Given the description of an element on the screen output the (x, y) to click on. 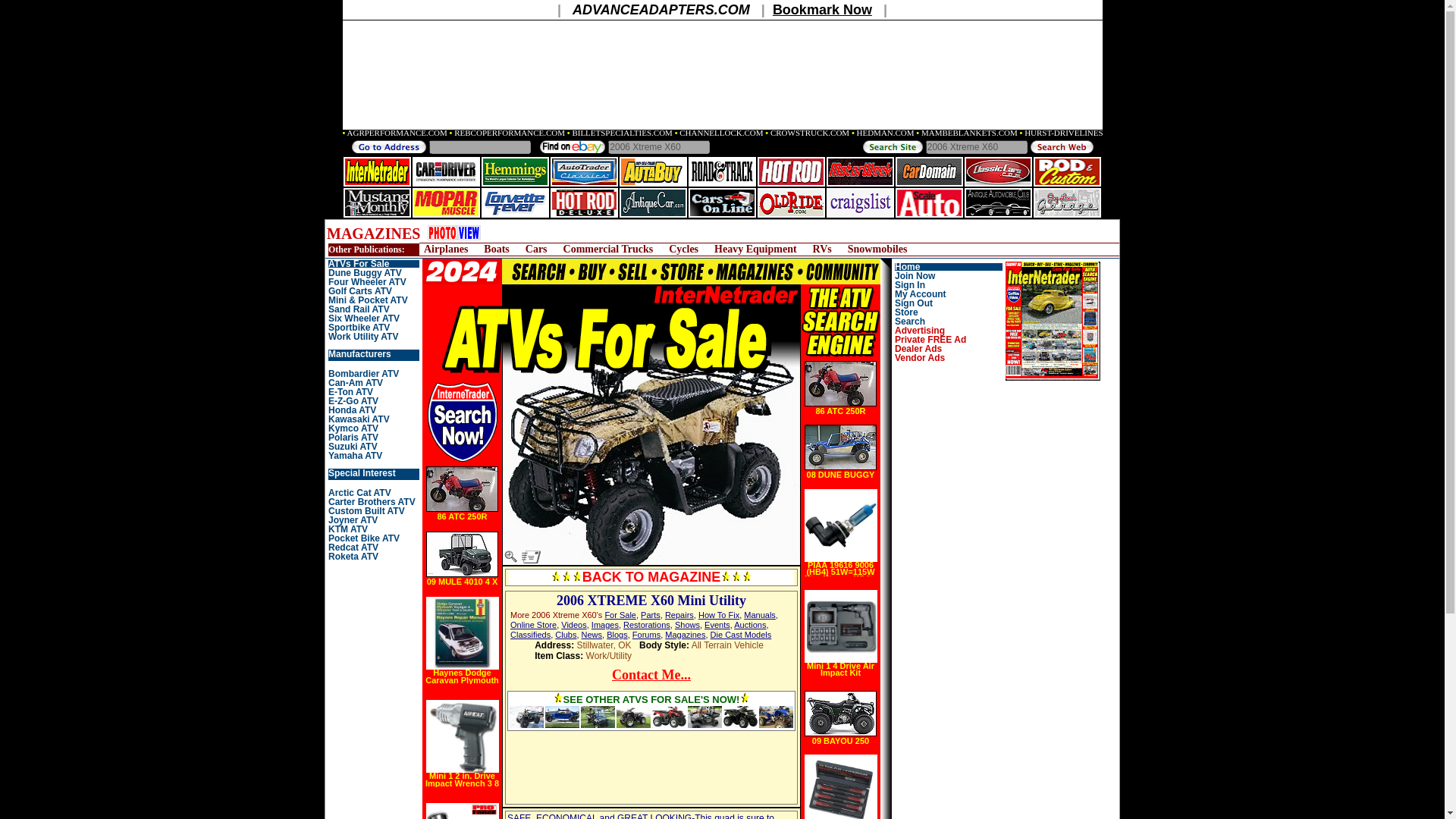
Bookmark Now (822, 8)
Advertisement (1005, 483)
2006 Xtreme X60 (659, 146)
AGRPERFORMANCE.COM (396, 132)
Advertisement (579, 766)
Advertisement (723, 766)
REBCOPERFORMANCE.COM (509, 132)
Advertisement (772, 233)
2006 Xtreme X60 (976, 146)
